Given the description of an element on the screen output the (x, y) to click on. 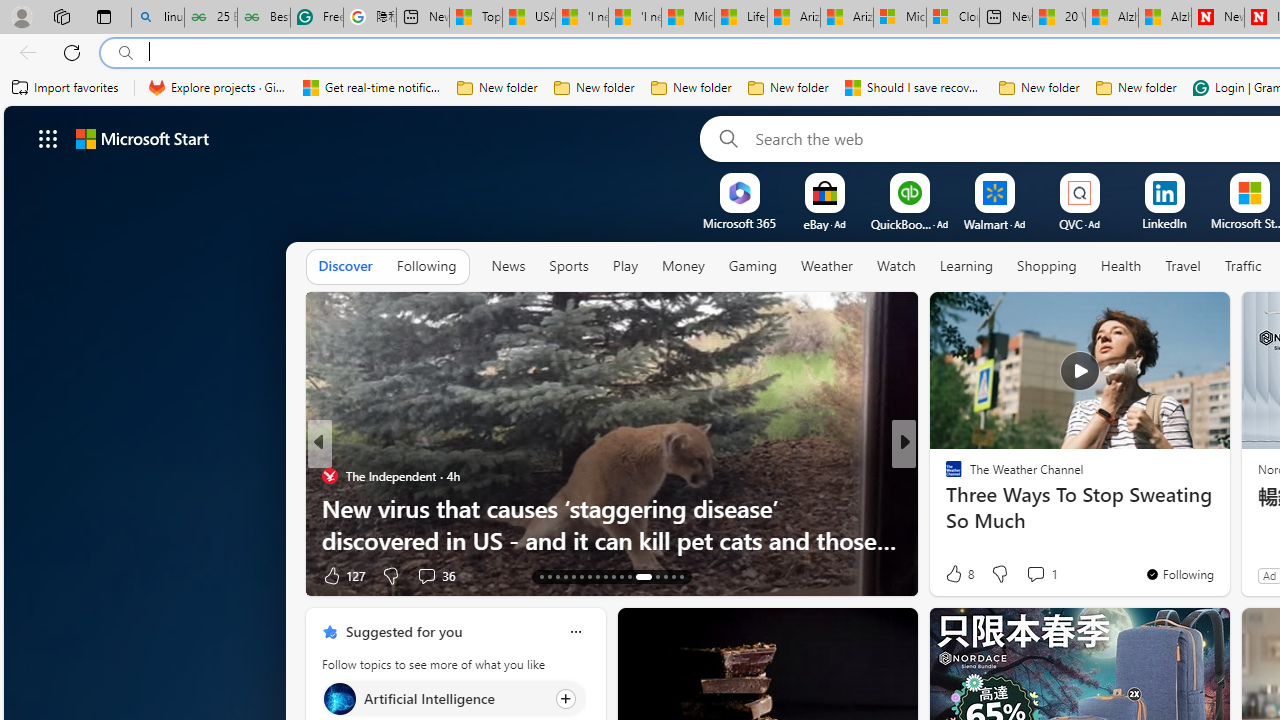
Free AI Writing Assistance for Students | Grammarly (316, 17)
AutomationID: tab-24 (628, 576)
Lifestyle - MSN (740, 17)
AutomationID: tab-16 (564, 576)
40 Like (956, 574)
Cloud Computing Services | Microsoft Azure (952, 17)
